Given the description of an element on the screen output the (x, y) to click on. 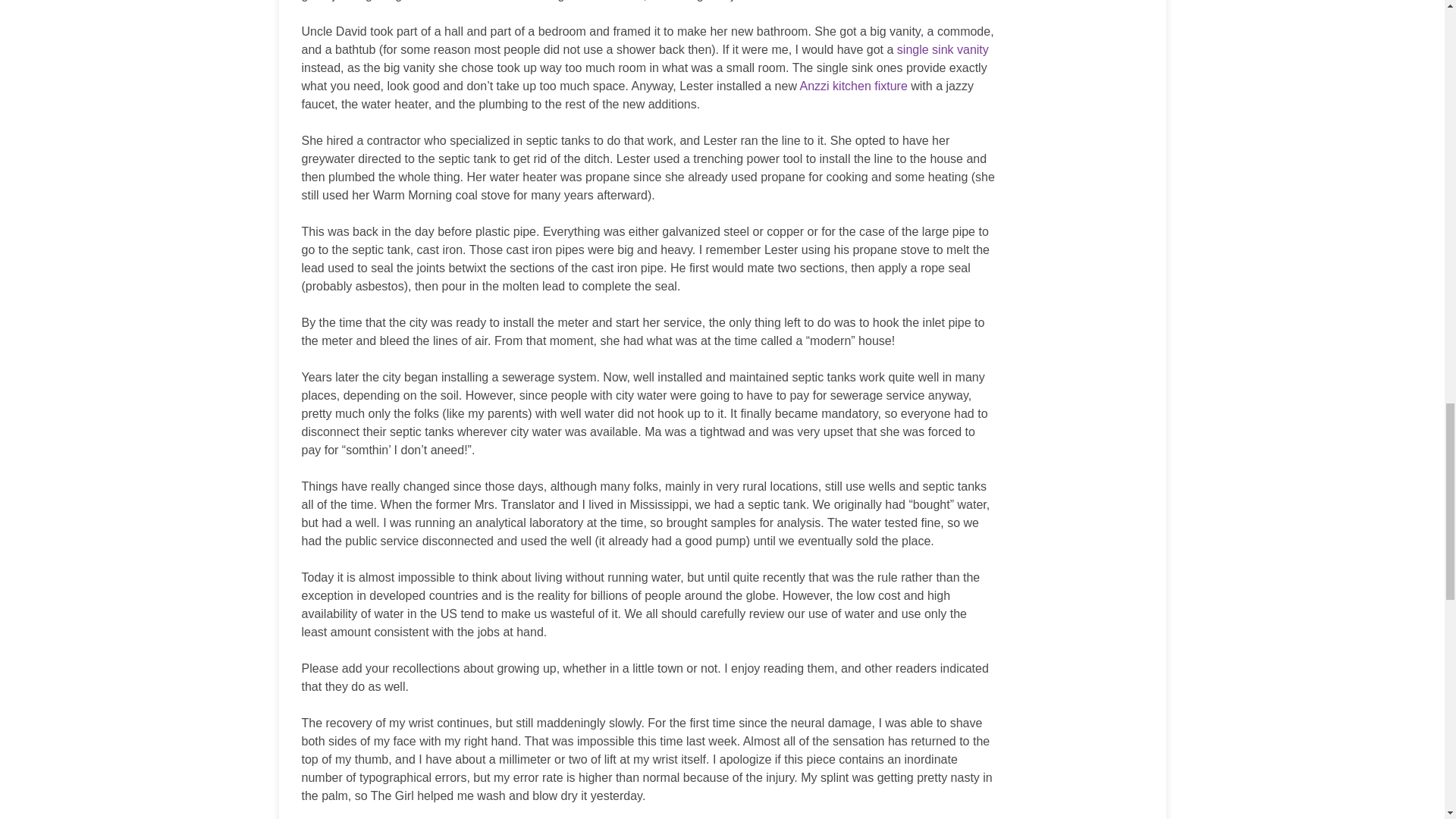
single sink vanity (942, 49)
Anzzi kitchen fixture (853, 85)
